Given the description of an element on the screen output the (x, y) to click on. 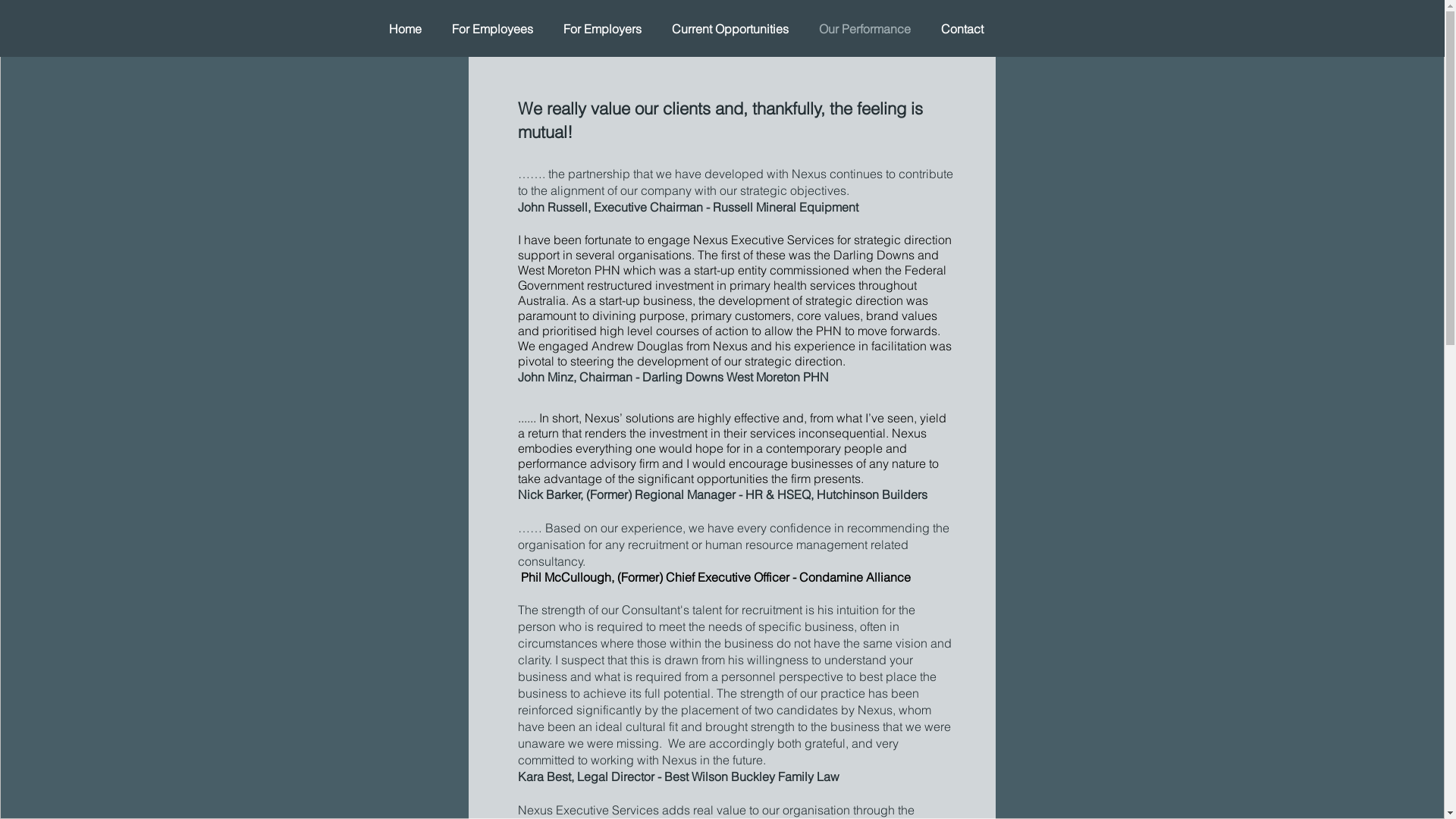
Our Performance Element type: text (864, 29)
Home Element type: text (404, 29)
Current Opportunities Element type: text (729, 29)
Contact Element type: text (961, 29)
For Employers Element type: text (601, 29)
For Employees Element type: text (492, 29)
